Given the description of an element on the screen output the (x, y) to click on. 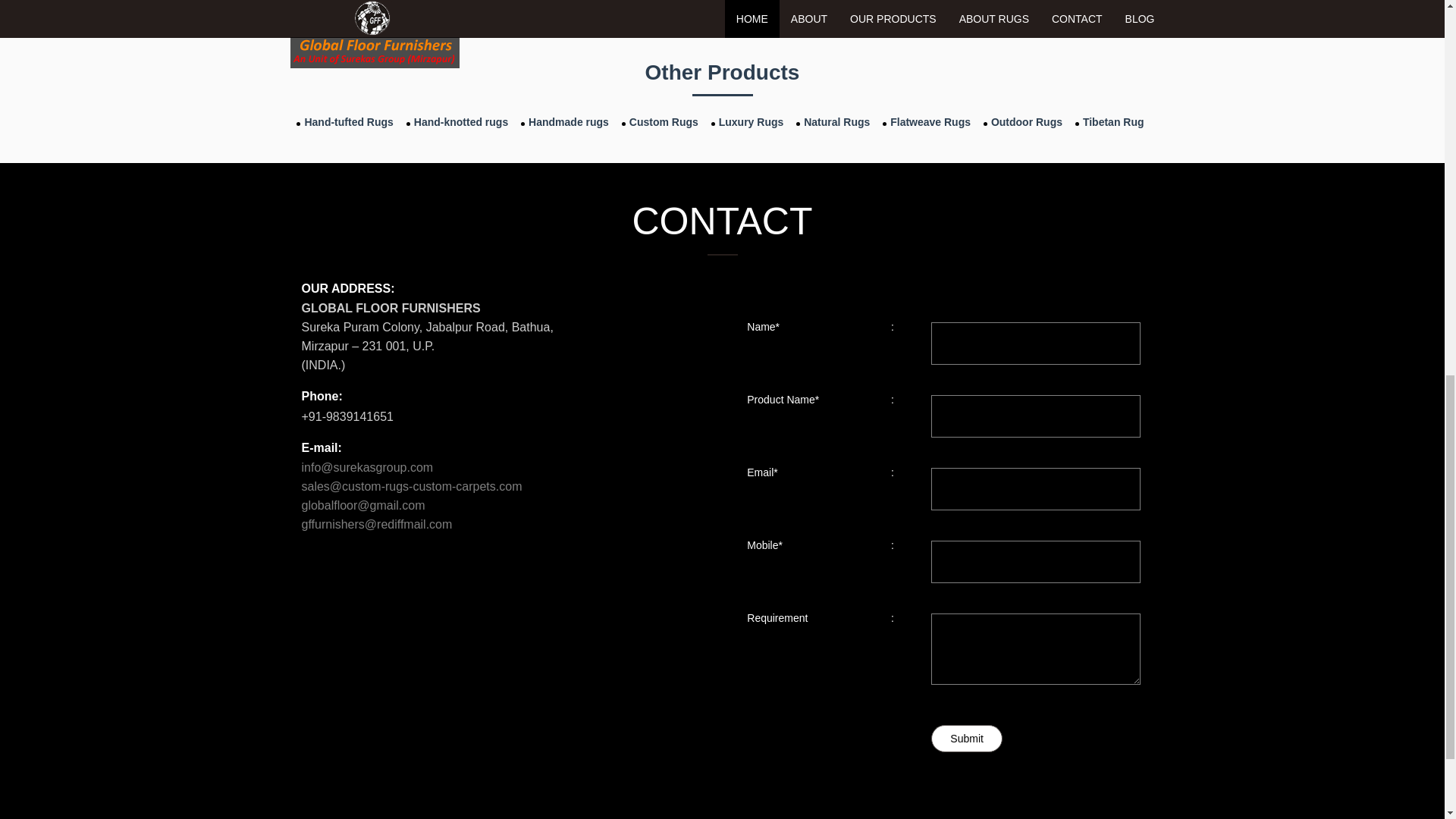
Luxury Rugs (749, 121)
Handmade rugs (566, 121)
Tibetan Rug (1111, 121)
Flatweave Rugs (928, 121)
Submit (967, 738)
Natural Rugs (834, 121)
Submit (967, 738)
Custom Rugs (661, 121)
Hand-tufted Rugs (346, 121)
Outdoor Rugs (1024, 121)
Hand-knotted rugs (459, 121)
